Given the description of an element on the screen output the (x, y) to click on. 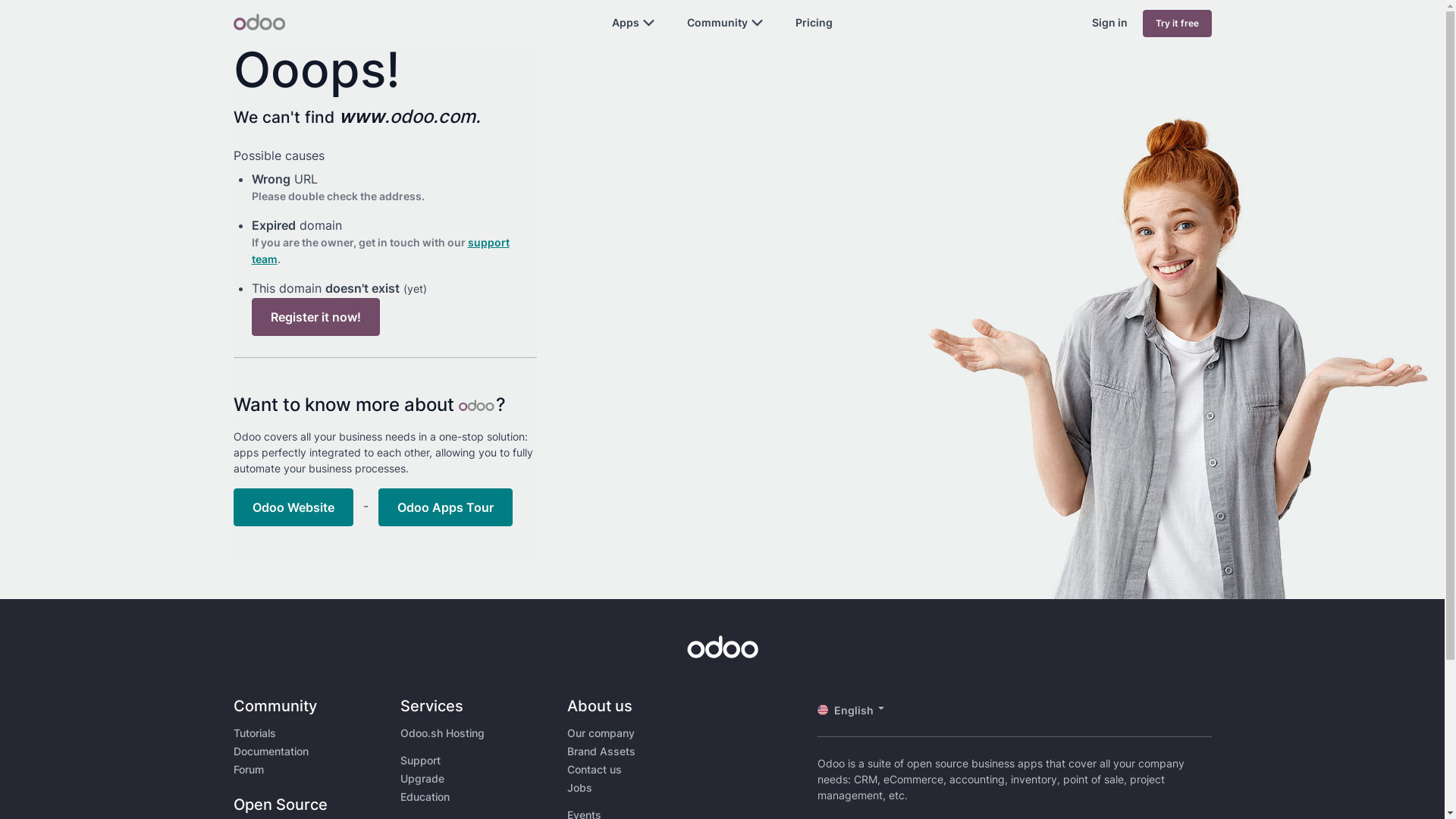
Upgrade Element type: text (422, 777)
Contact us Element type: text (594, 768)
Community Element type: text (716, 21)
Odoo Element type: text (259, 21)
Odoo Website Element type: text (293, 507)
Education Element type: text (424, 796)
support team Element type: text (380, 250)
Register it now! Element type: text (315, 316)
Pricing Element type: text (813, 21)
Tutorials Element type: text (254, 732)
Apps Element type: text (625, 21)
Documentation Element type: text (270, 750)
Odoo Apps Tour Element type: text (444, 507)
Forum Element type: text (248, 768)
Support Element type: text (420, 759)
Try it free Element type: text (1176, 23)
Jobs Element type: text (579, 787)
Our company Element type: text (600, 732)
Sign in Element type: text (1109, 22)
Brand Assets Element type: text (601, 750)
Odoo.sh Hosting Element type: text (442, 732)
English Element type: text (857, 709)
